Given the description of an element on the screen output the (x, y) to click on. 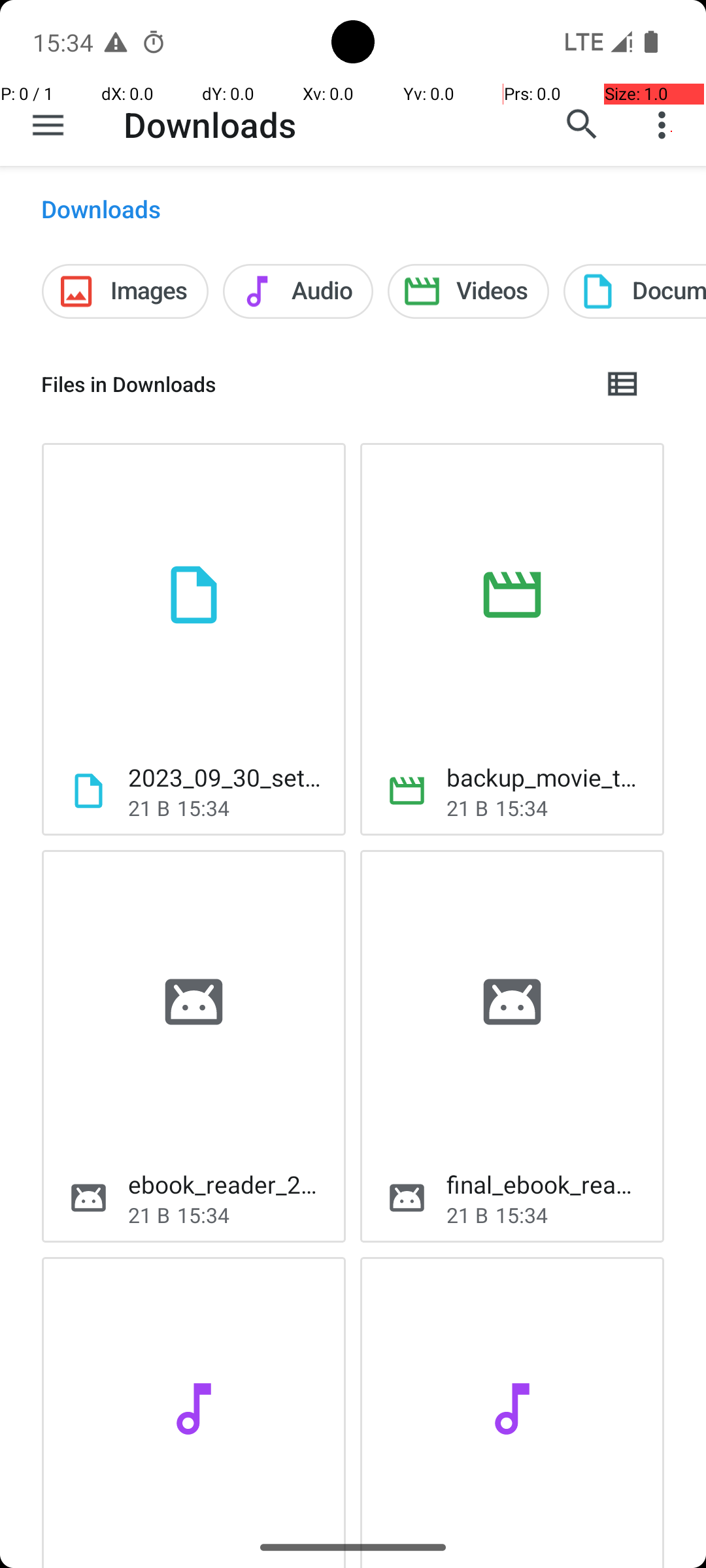
2023_09_30_setup_exe.exe Element type: android.widget.TextView (226, 776)
21 B Element type: android.widget.TextView (148, 807)
backup_movie_trailer.mp4 Element type: android.widget.TextView (544, 776)
ebook_reader_2023_07_15.apk Element type: android.widget.TextView (226, 1183)
final_ebook_reader.apk Element type: android.widget.TextView (544, 1183)
